Given the description of an element on the screen output the (x, y) to click on. 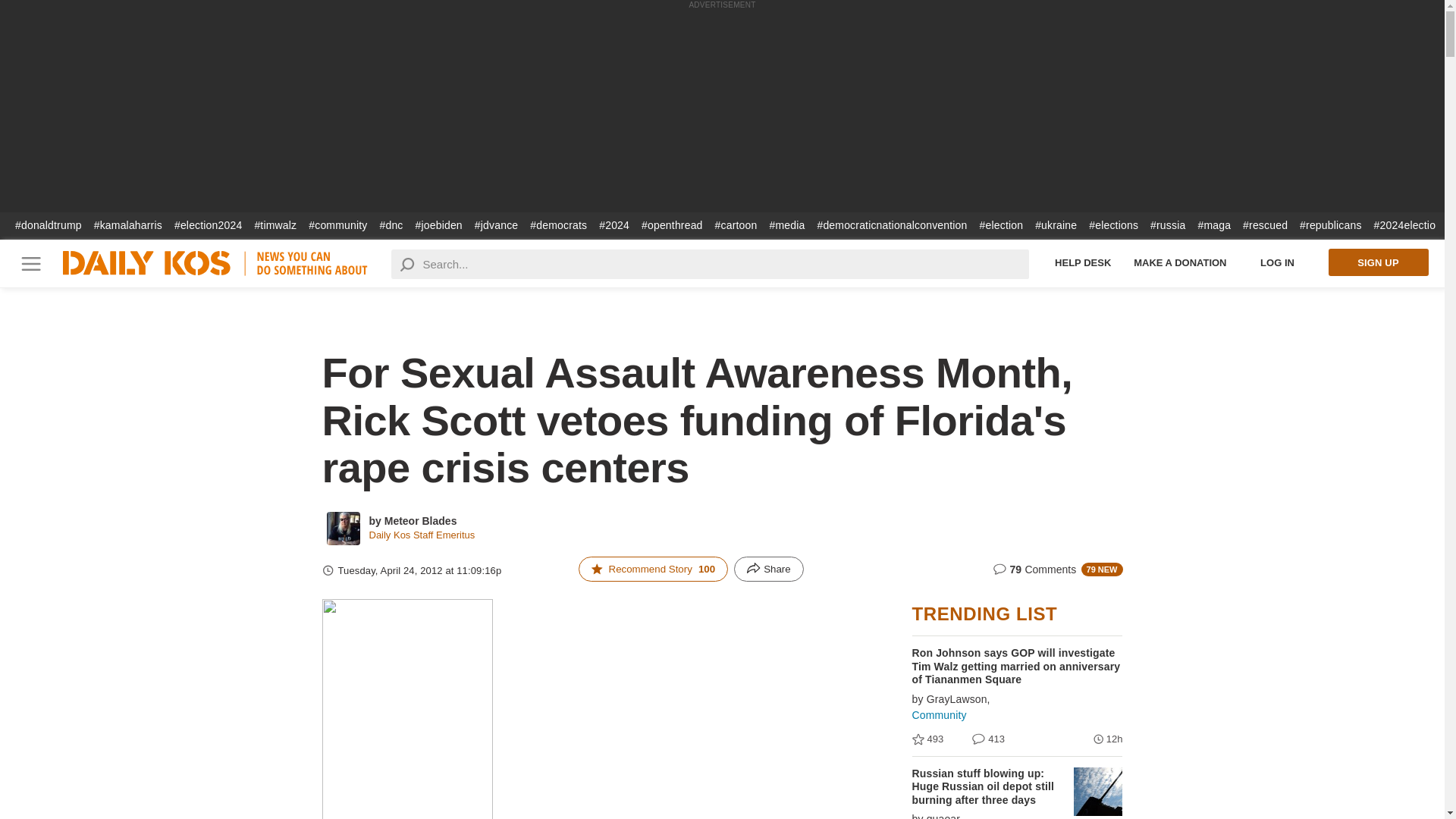
Help Desk (1082, 262)
Make a Donation (1179, 262)
MAKE A DONATION (1179, 262)
